Given the description of an element on the screen output the (x, y) to click on. 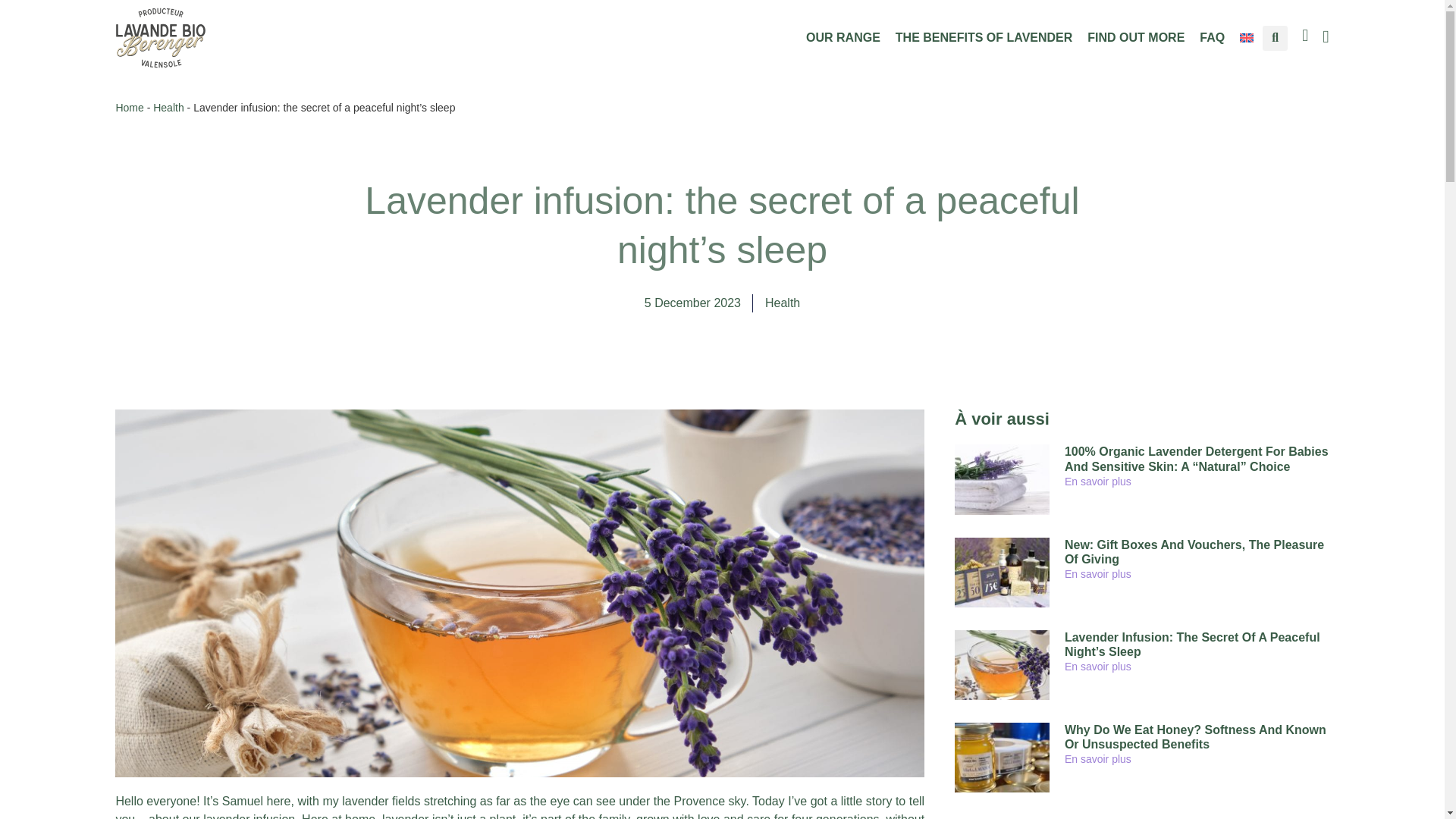
OUR RANGE (843, 37)
cartes-cadeaux (1002, 572)
FIND OUT MORE (1136, 37)
logo-lavande-bio (160, 37)
THE BENEFITS OF LAVENDER (984, 37)
infusion-lavande (1002, 664)
FAQ (1211, 37)
